Given the description of an element on the screen output the (x, y) to click on. 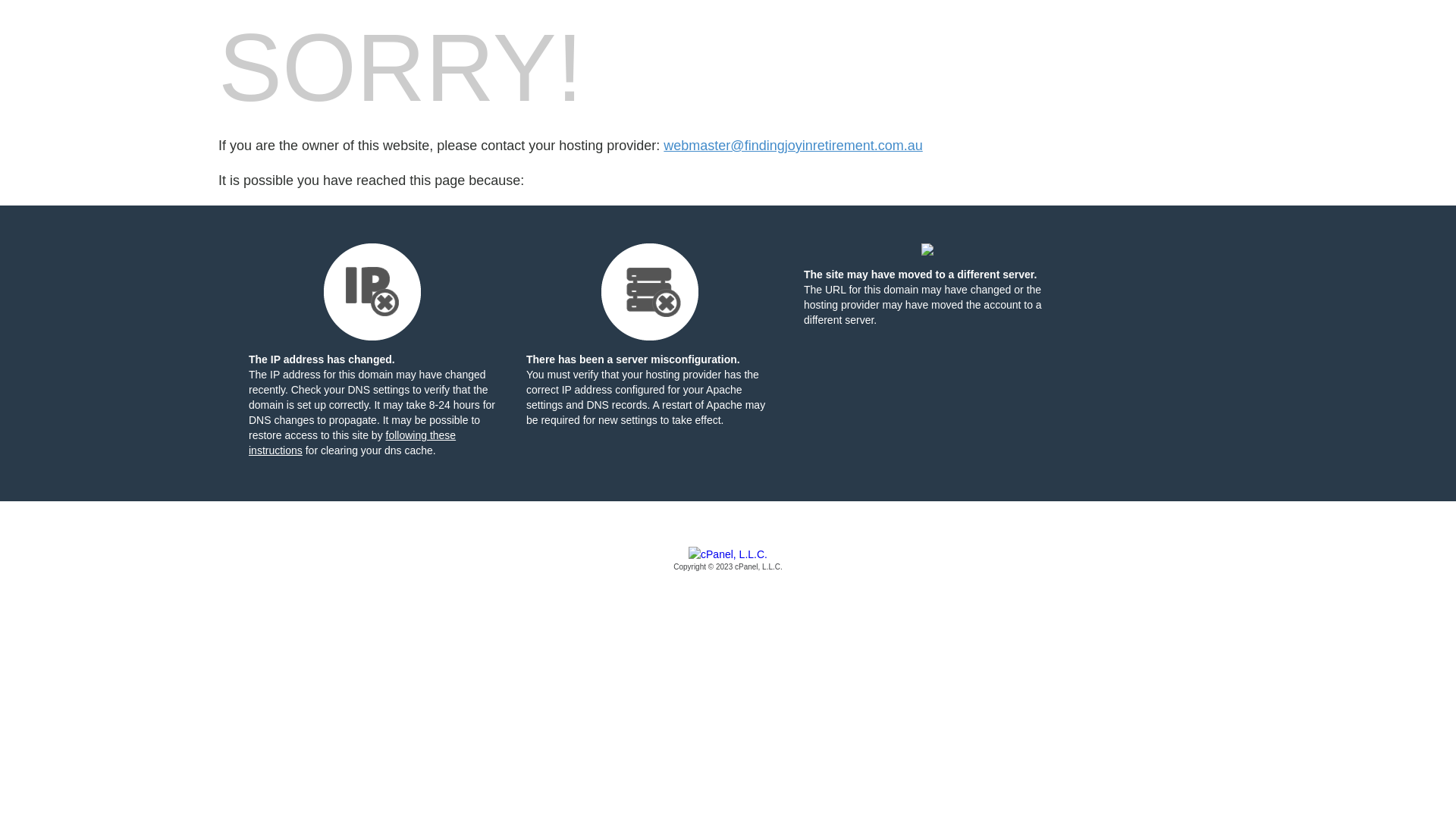
following these instructions Element type: text (351, 442)
webmaster@findingjoyinretirement.com.au Element type: text (792, 145)
